Given the description of an element on the screen output the (x, y) to click on. 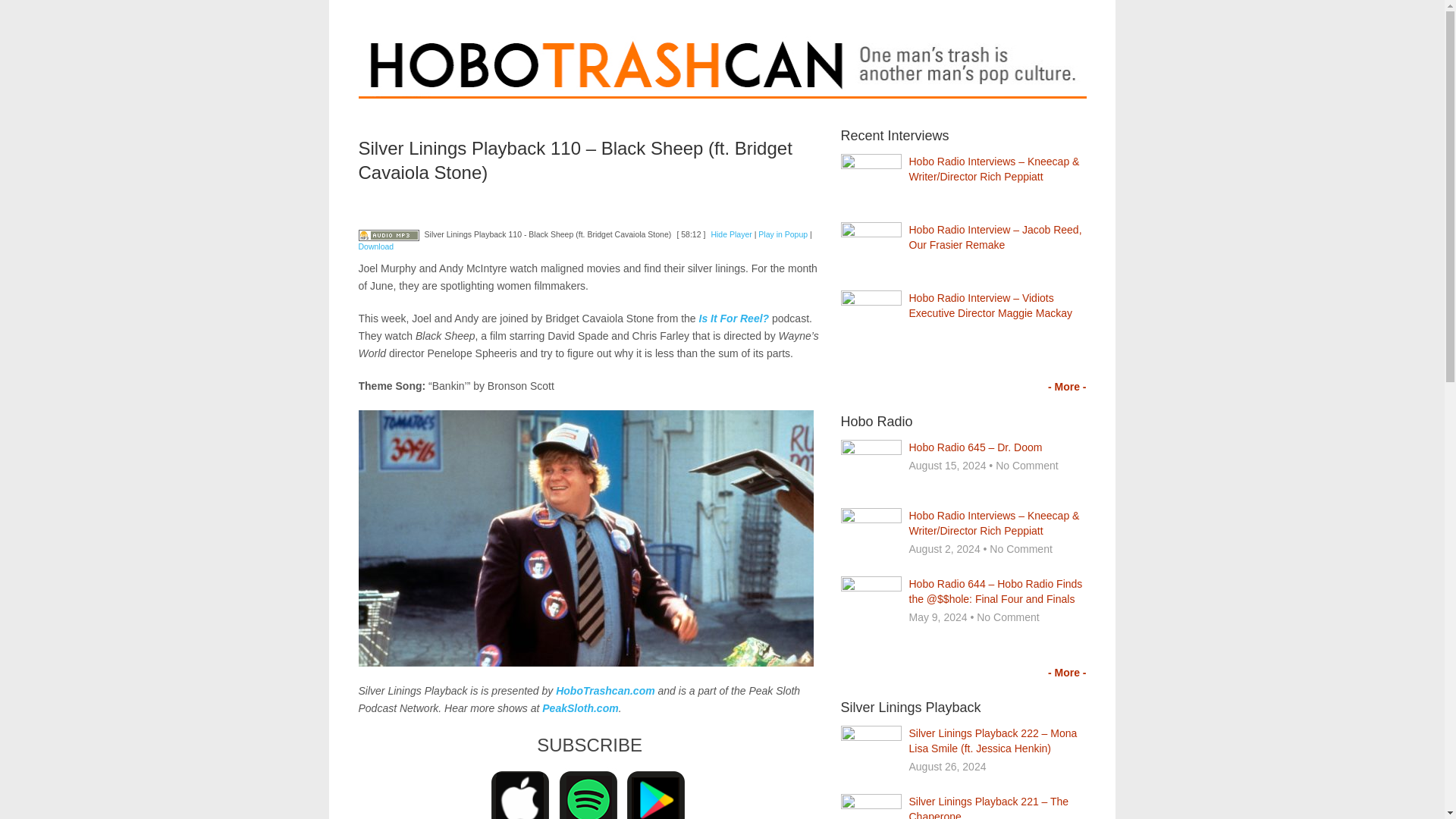
- More - (1067, 386)
Hide Player (730, 234)
Is It For Reel? (734, 318)
Play in Popup (783, 234)
- More - (1067, 672)
Download (375, 245)
PeakSloth.com (579, 707)
HoboTrashcan.com (604, 690)
